Given the description of an element on the screen output the (x, y) to click on. 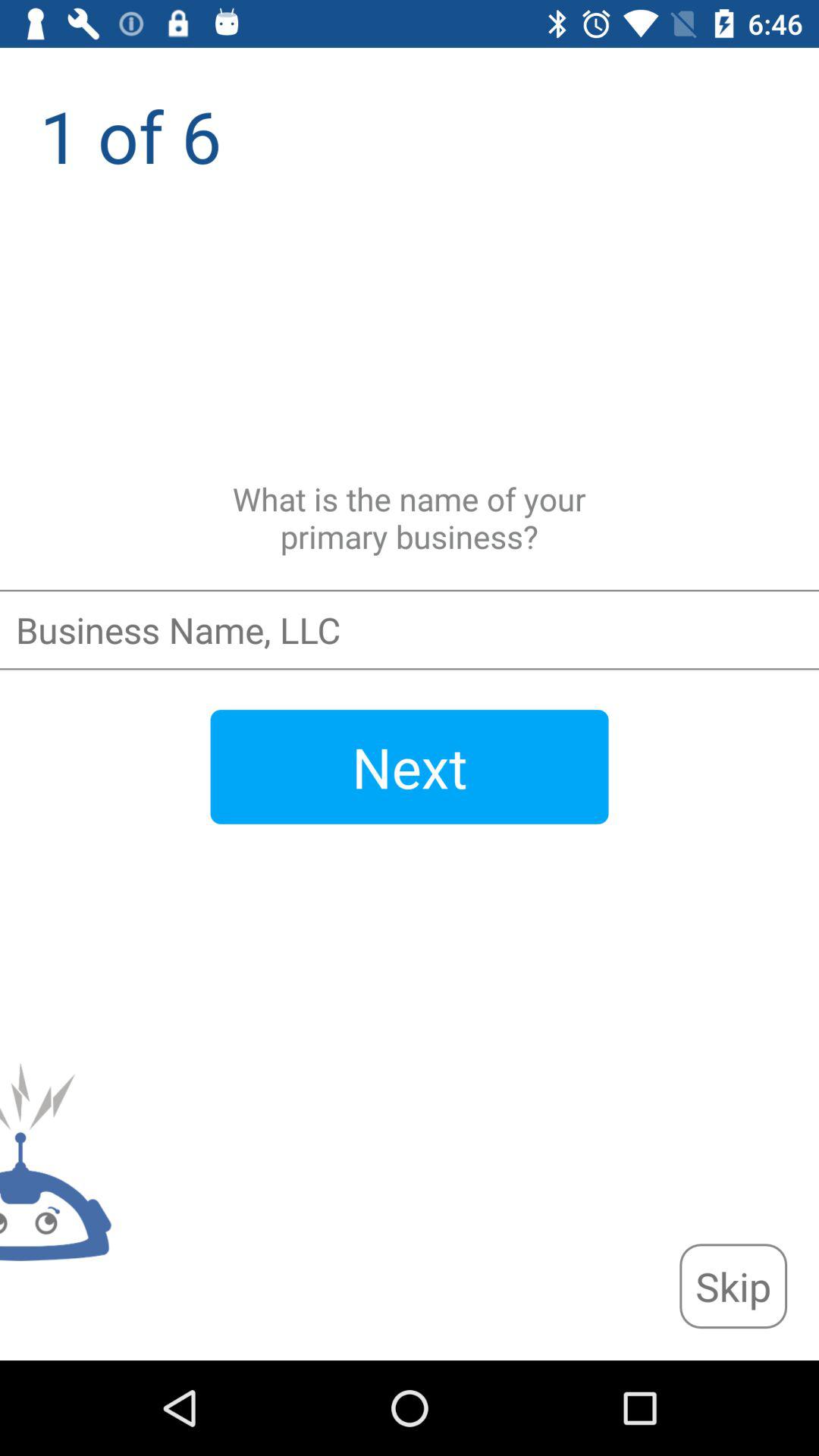
jump until next icon (409, 766)
